Given the description of an element on the screen output the (x, y) to click on. 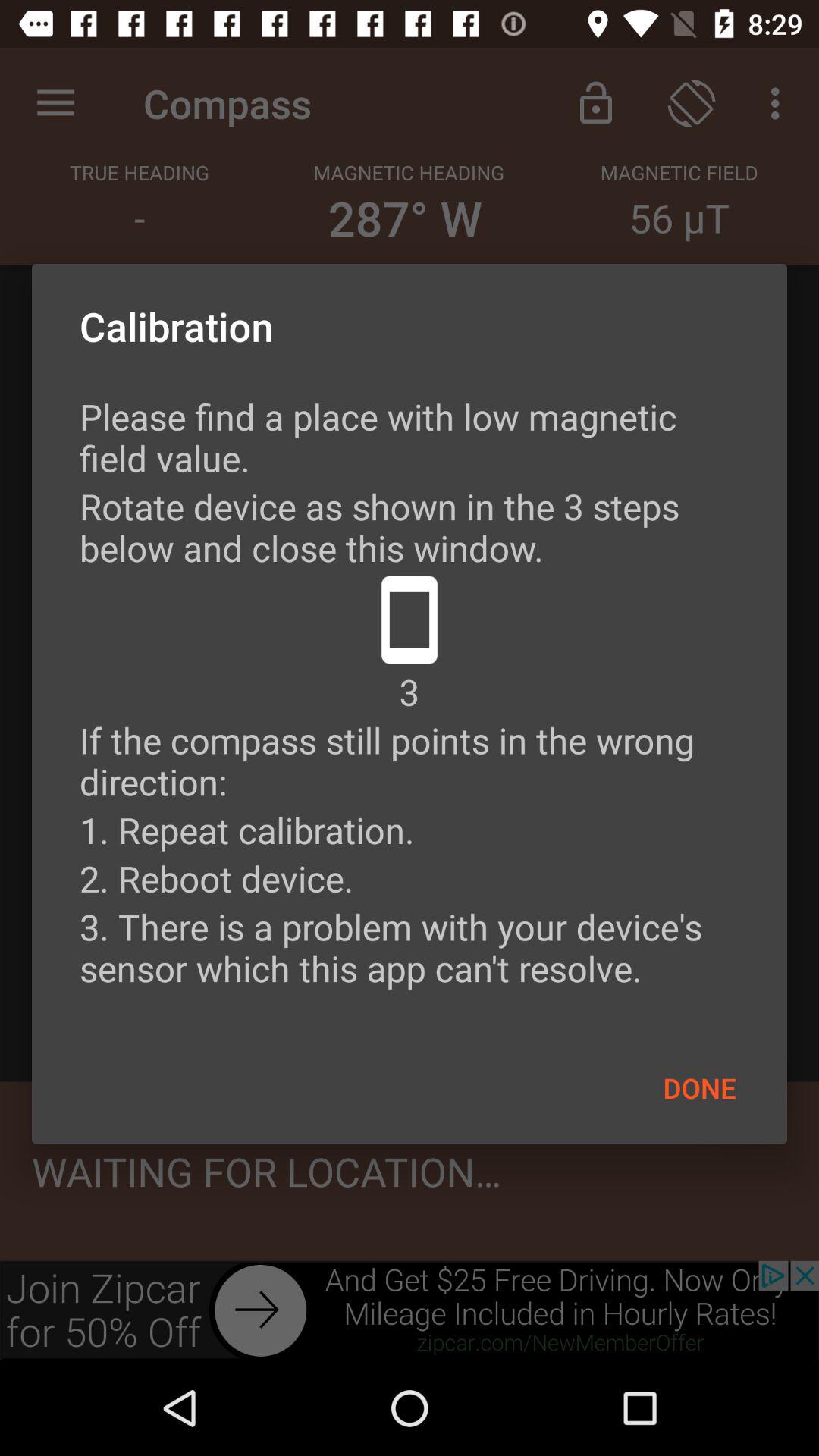
press icon below 3 there is item (699, 1087)
